Given the description of an element on the screen output the (x, y) to click on. 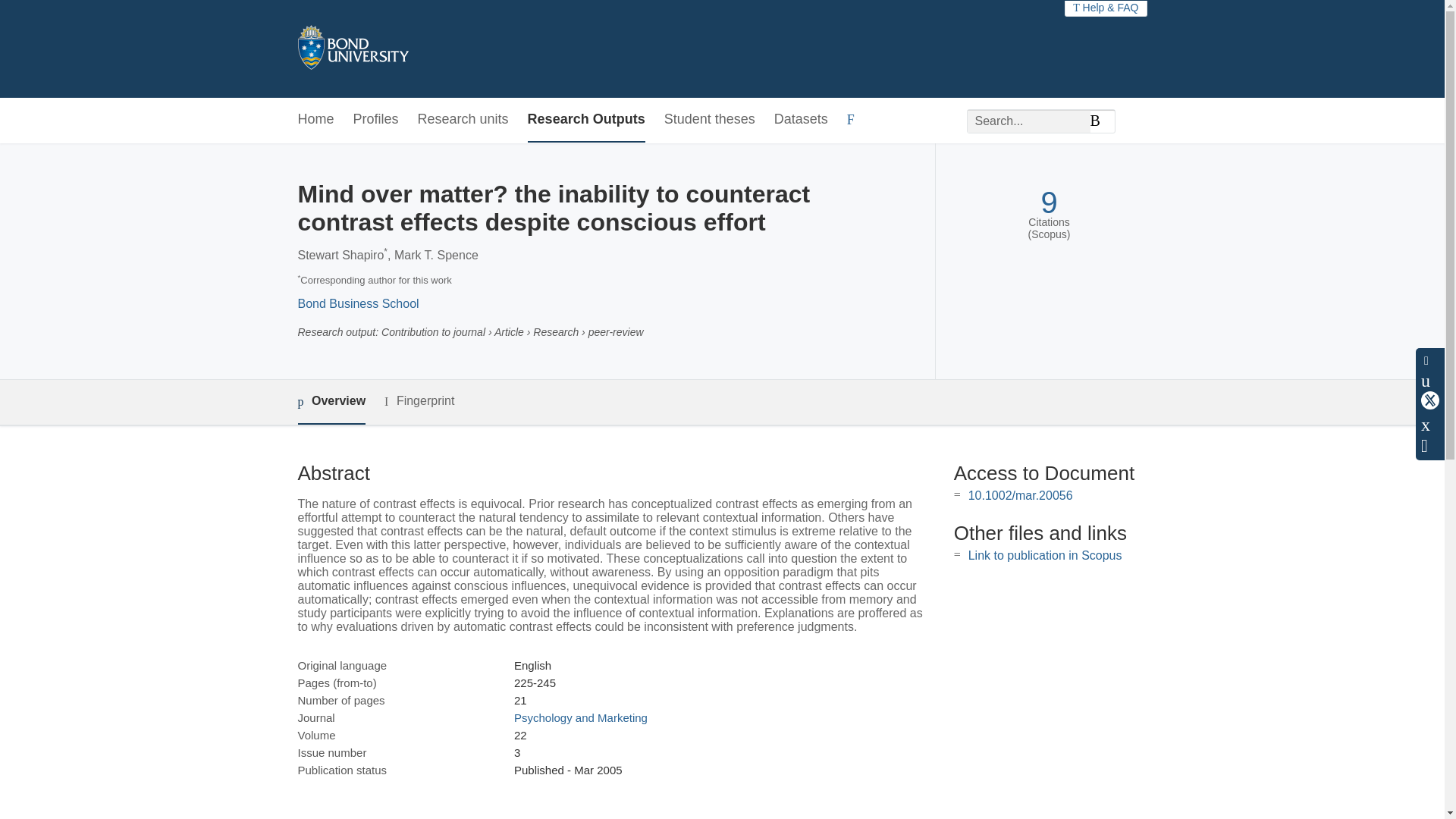
Profiles (375, 119)
Research units (462, 119)
Psychology and Marketing (580, 717)
Overview (331, 402)
Link to publication in Scopus (1045, 554)
Datasets (801, 119)
Student theses (709, 119)
Bond Business School (358, 303)
Fingerprint (419, 401)
Bond University Research Portal Home (352, 48)
Research Outputs (586, 119)
